Given the description of an element on the screen output the (x, y) to click on. 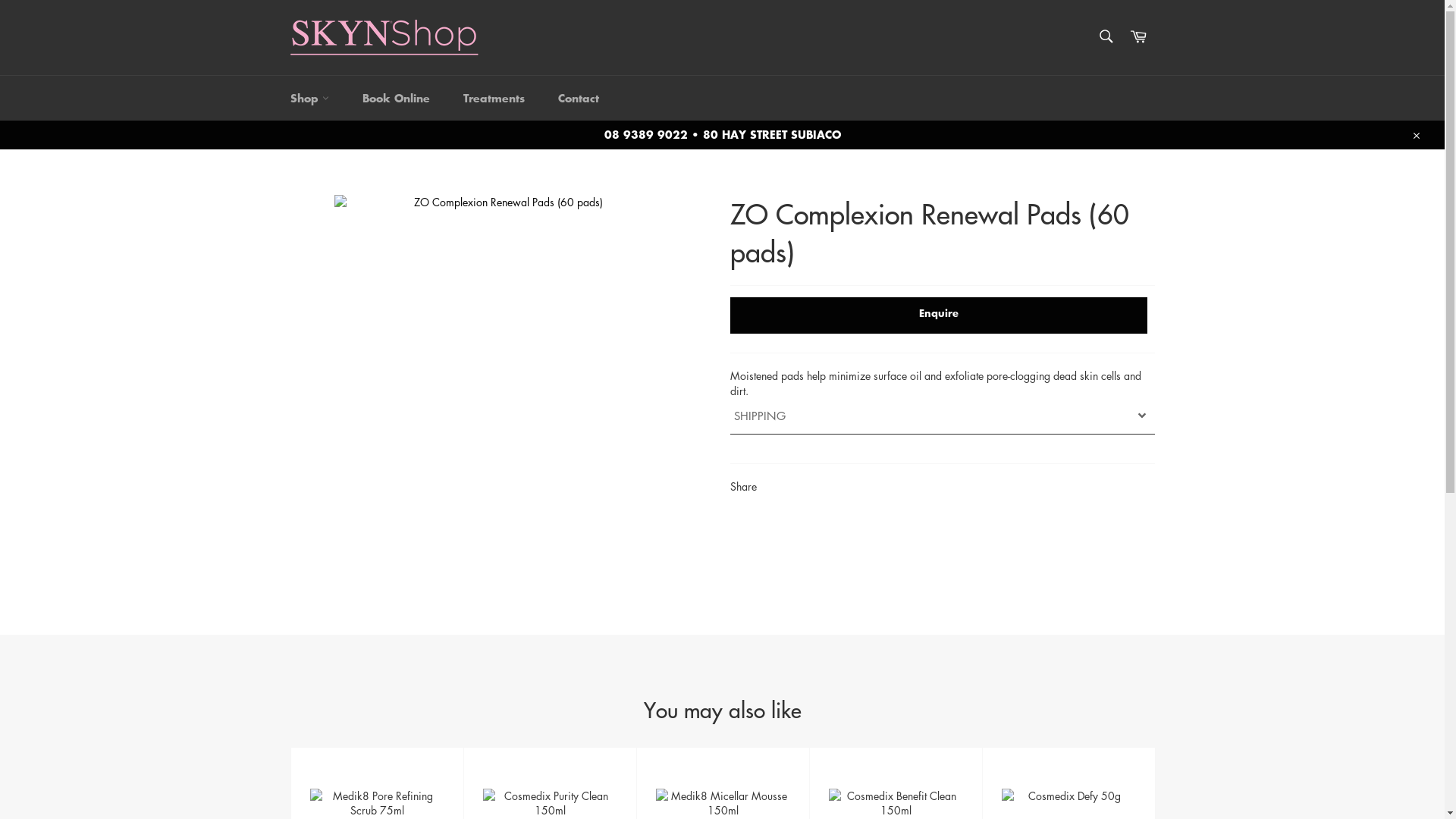
Contact Element type: text (578, 97)
Cart Element type: text (1138, 37)
Book Online Element type: text (396, 97)
Treatments Element type: text (493, 97)
Close Element type: text (1415, 134)
Search Element type: text (1105, 36)
Enquire Element type: text (937, 315)
Shop Element type: text (308, 97)
